Given the description of an element on the screen output the (x, y) to click on. 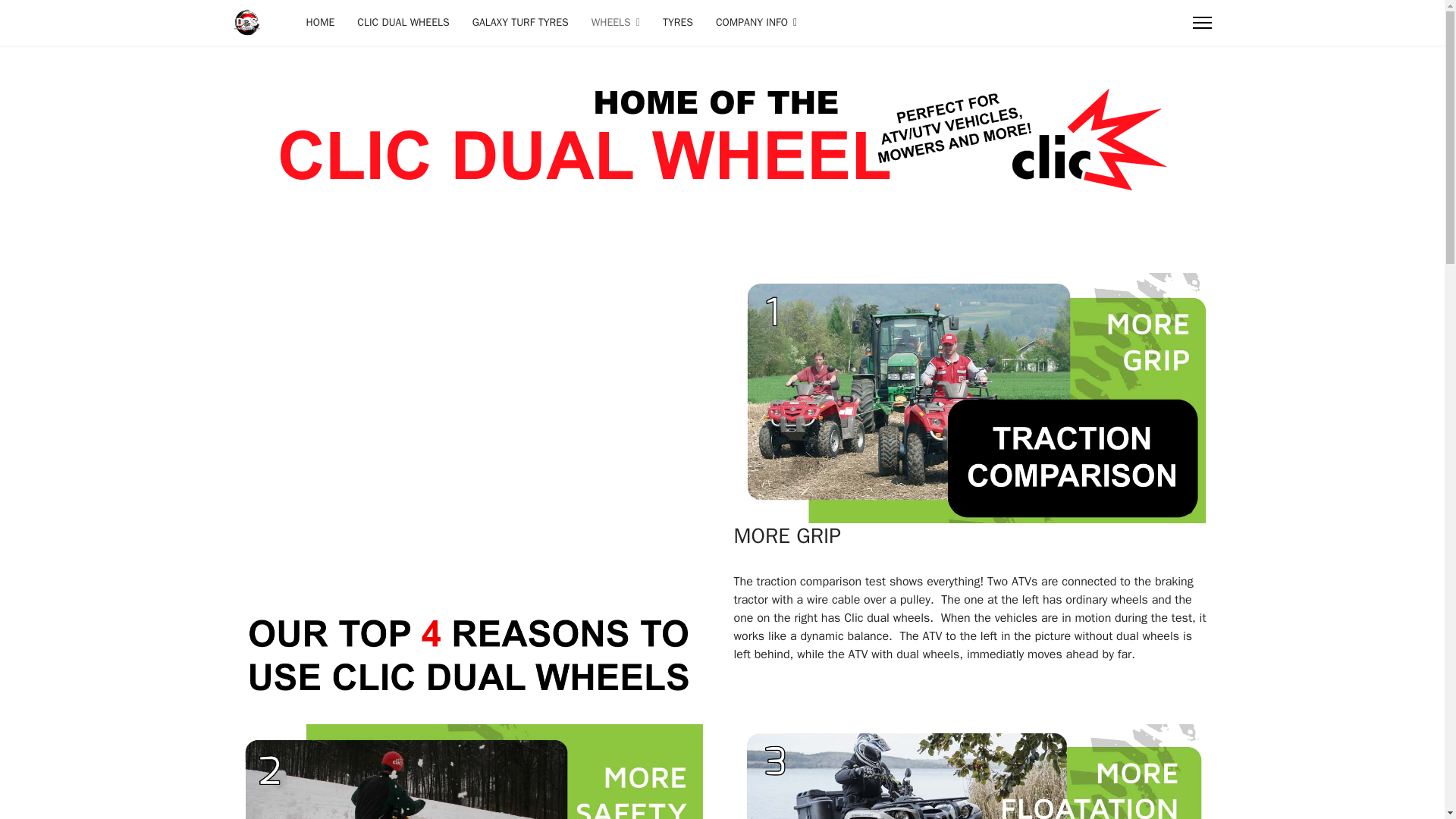
WHEELS (614, 22)
HOME (320, 22)
TYRES (677, 22)
GALAXY TURF TYRES (520, 22)
CLIC DUAL WHEELS (403, 22)
